Given the description of an element on the screen output the (x, y) to click on. 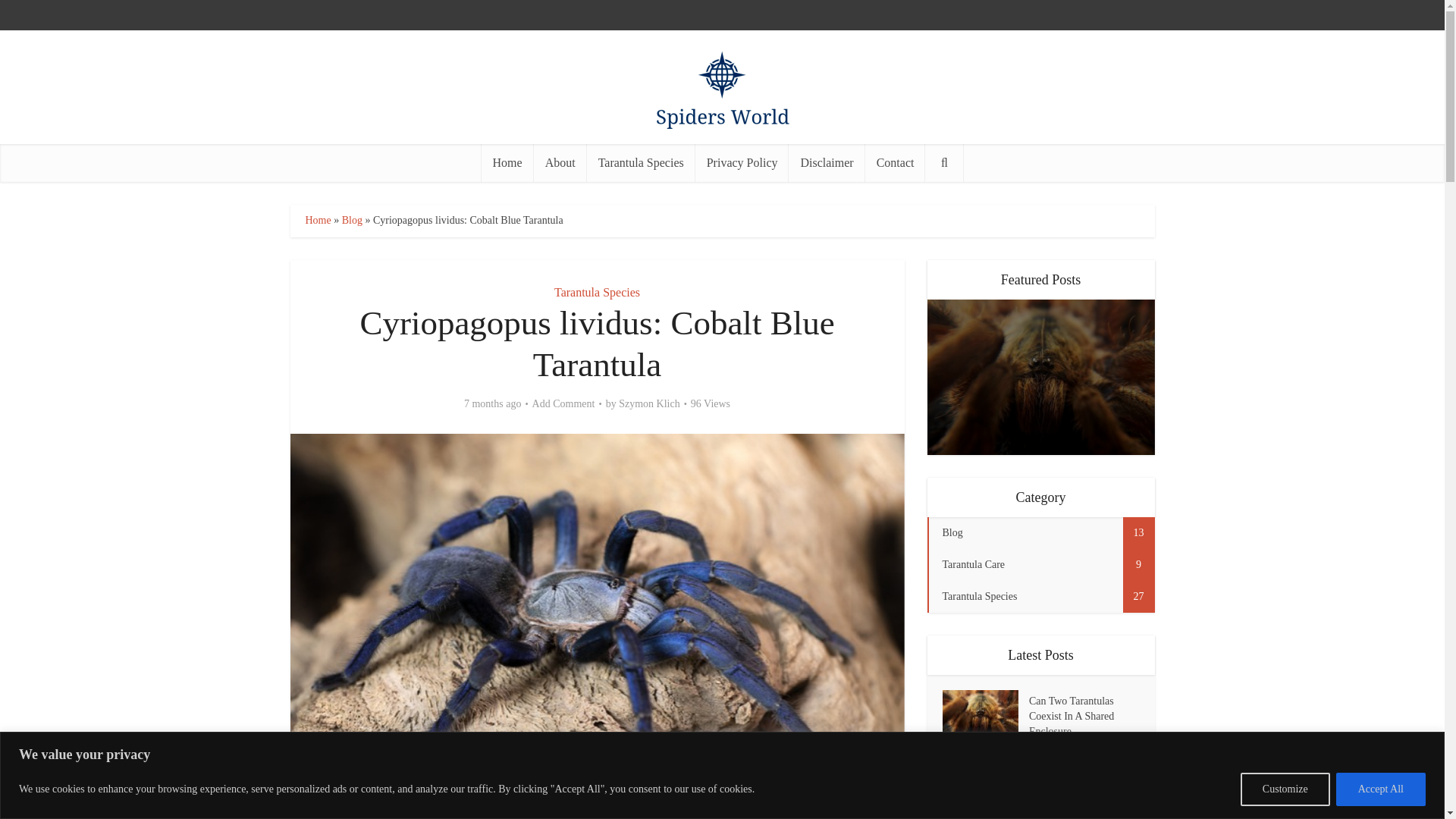
Home (507, 162)
Home (317, 220)
Privacy Policy (742, 162)
Accept All (1380, 788)
Disclaimer (826, 162)
Customize (1285, 788)
Contact (895, 162)
Szymon Klich (648, 404)
About (560, 162)
Tarantula Species (597, 291)
Add Comment (563, 404)
Blog (352, 220)
Tarantula Species (640, 162)
